Given the description of an element on the screen output the (x, y) to click on. 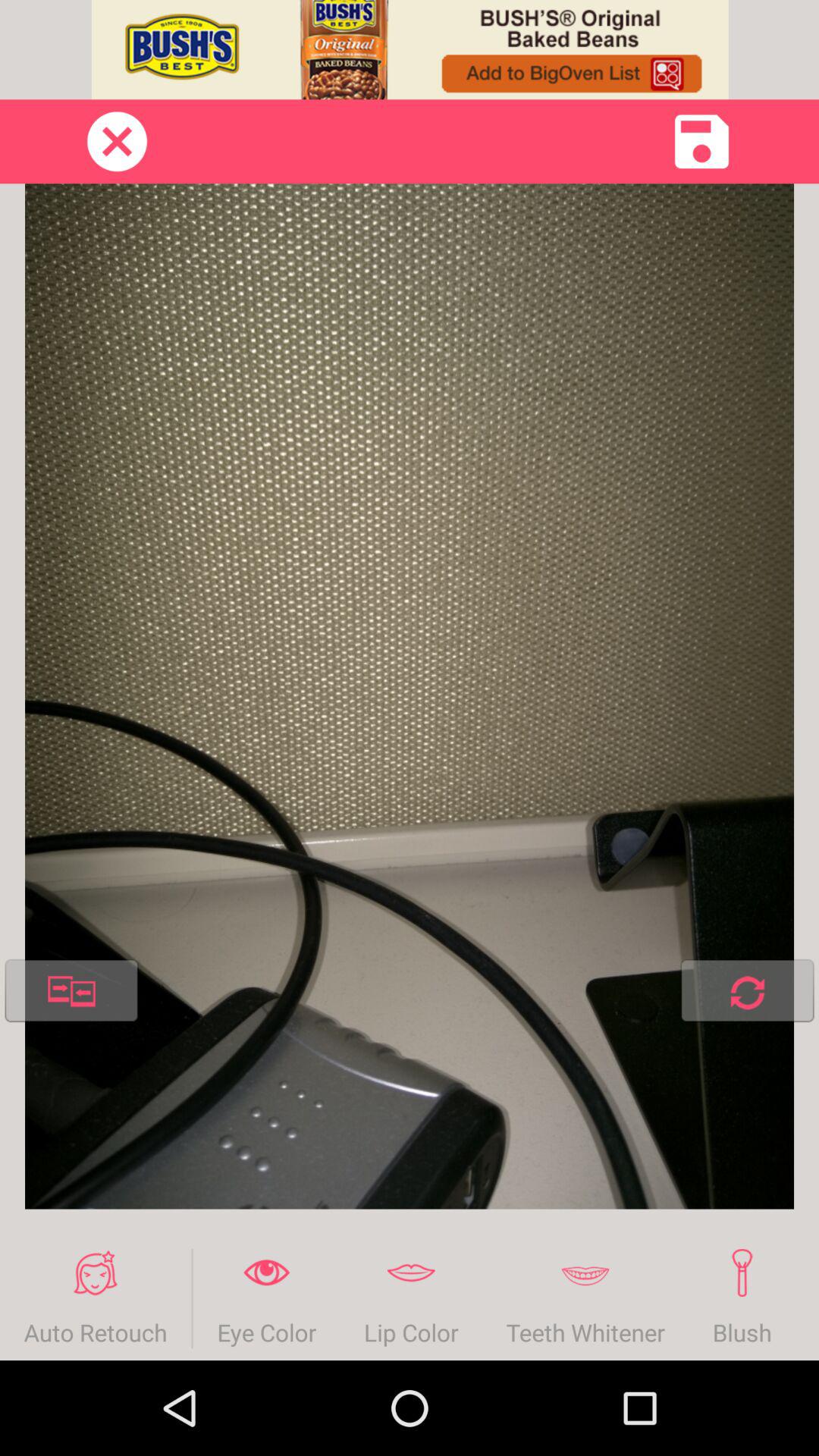
save this (701, 141)
